Given the description of an element on the screen output the (x, y) to click on. 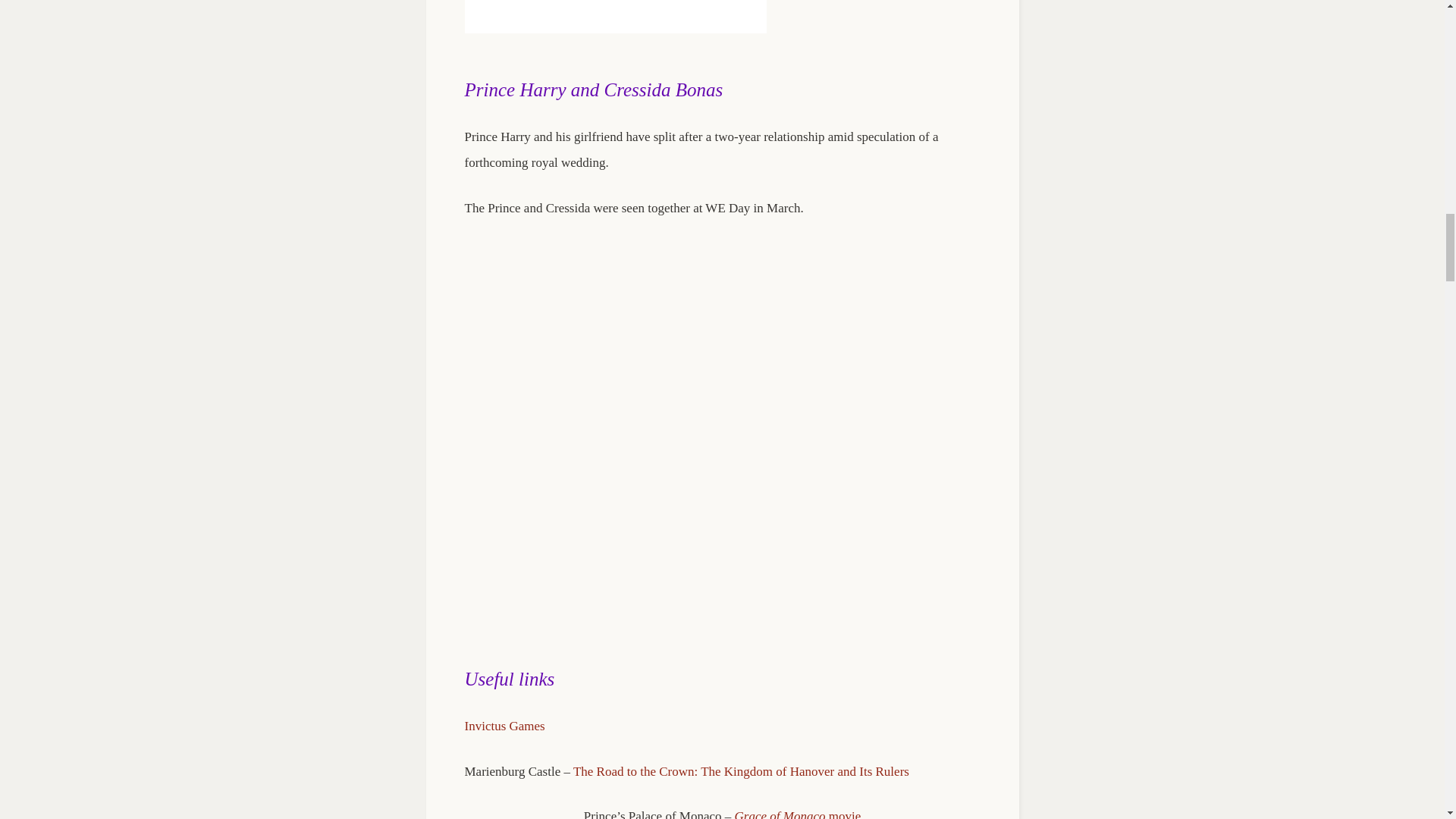
Invictus Games (504, 726)
The Road to the Crown Exhibition (740, 771)
The Road to the Crown: The Kingdom of Hanover and Its Rulers (740, 771)
Grace of Monaco movie (798, 814)
Invictus Games (504, 726)
Grace of Monaco movie (798, 814)
